Given the description of an element on the screen output the (x, y) to click on. 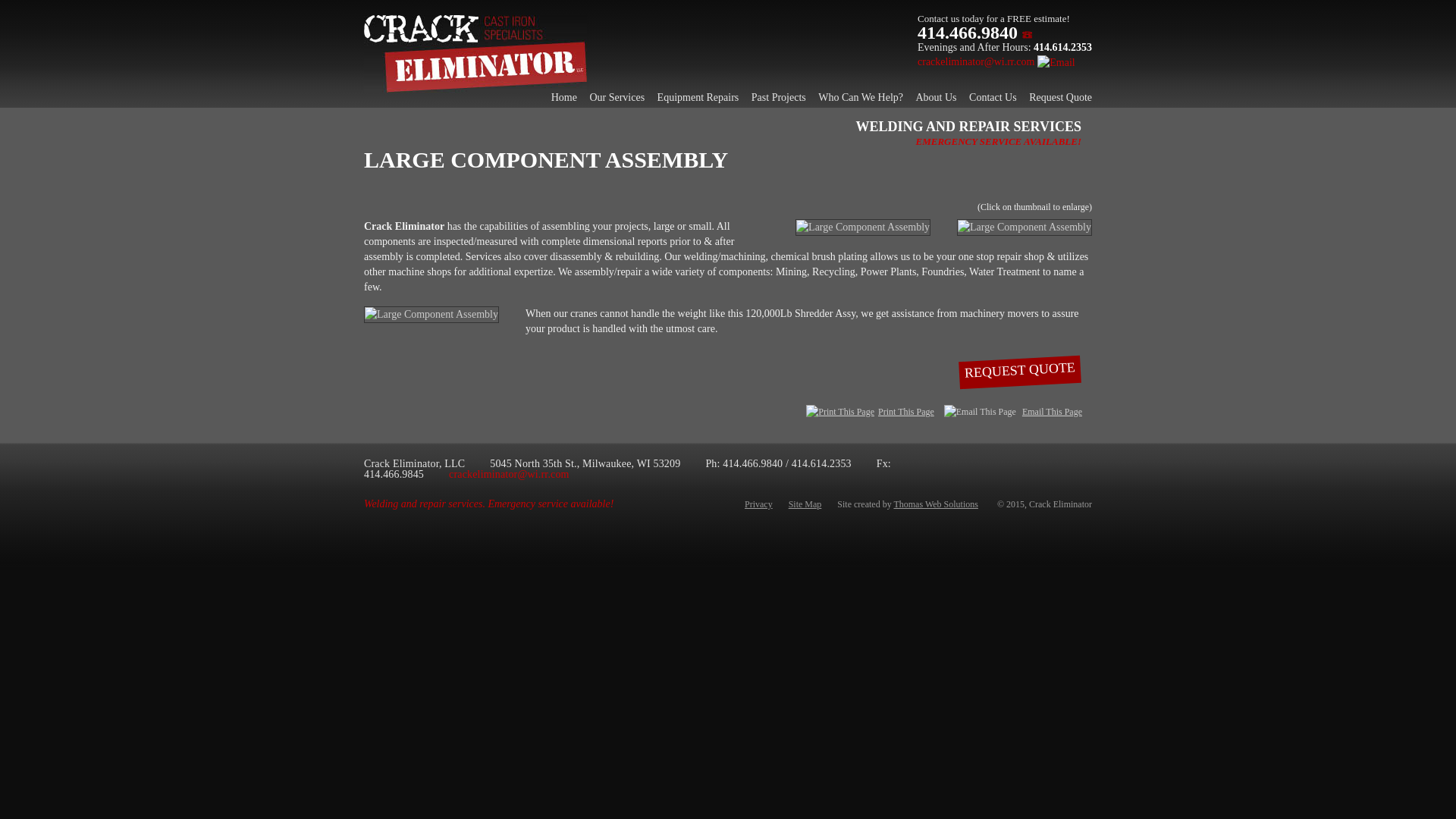
Site Map (805, 503)
Our Services (617, 97)
Privacy (758, 503)
Past Projects (778, 97)
REQUEST QUOTE (1019, 369)
Thomas Web Solutions (934, 503)
Print This Page (840, 412)
Contact Us (992, 97)
Who Can We Help? (860, 97)
Large Component Assembly (1024, 227)
